Given the description of an element on the screen output the (x, y) to click on. 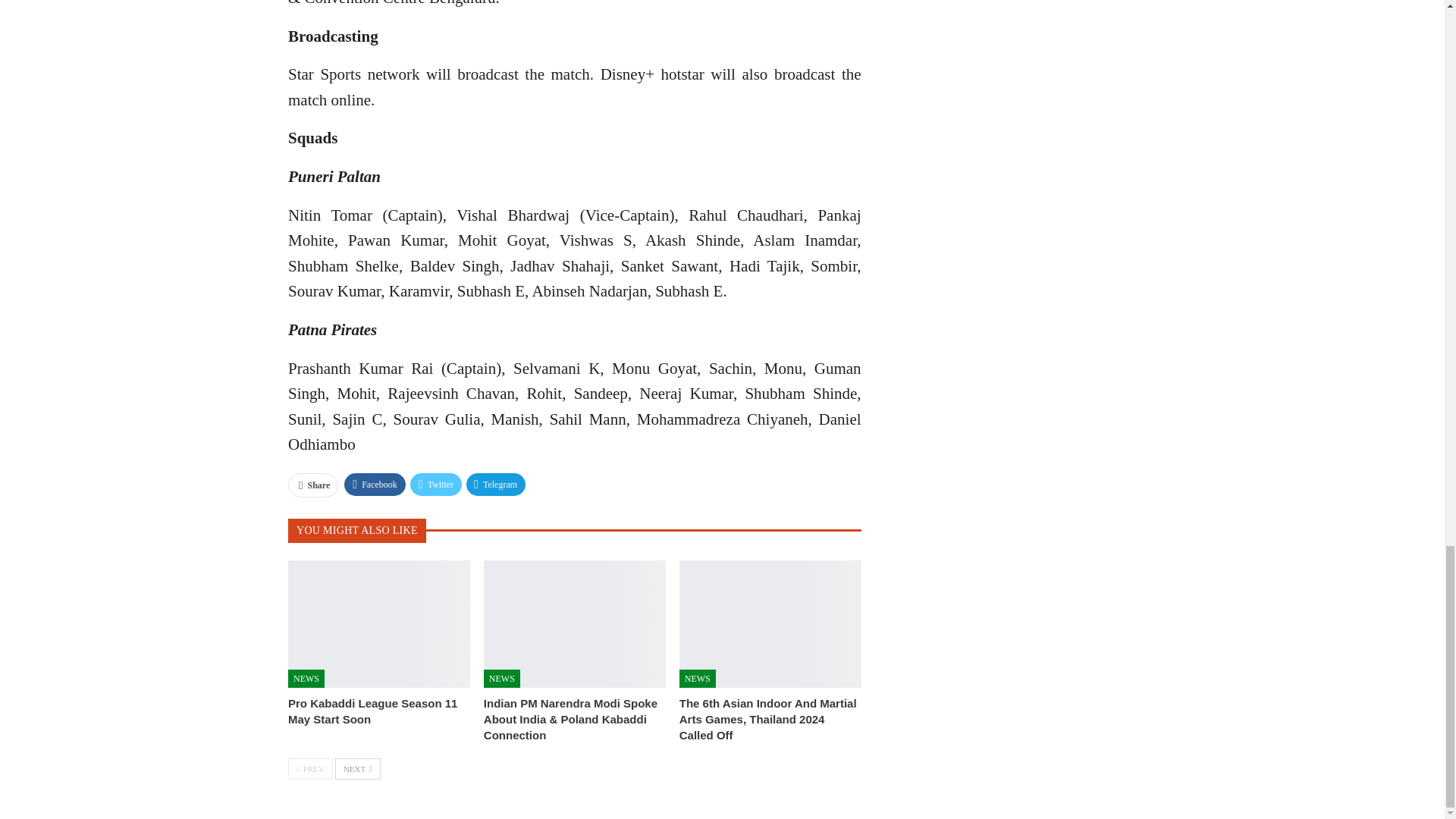
NEWS (306, 678)
Telegram (495, 484)
Twitter (435, 484)
Pro Kabaddi League Season 11 May Start Soon (379, 623)
Next (357, 768)
NEWS (501, 678)
Pro Kabaddi League Season 11 May Start Soon (372, 710)
NEWS (697, 678)
